Given the description of an element on the screen output the (x, y) to click on. 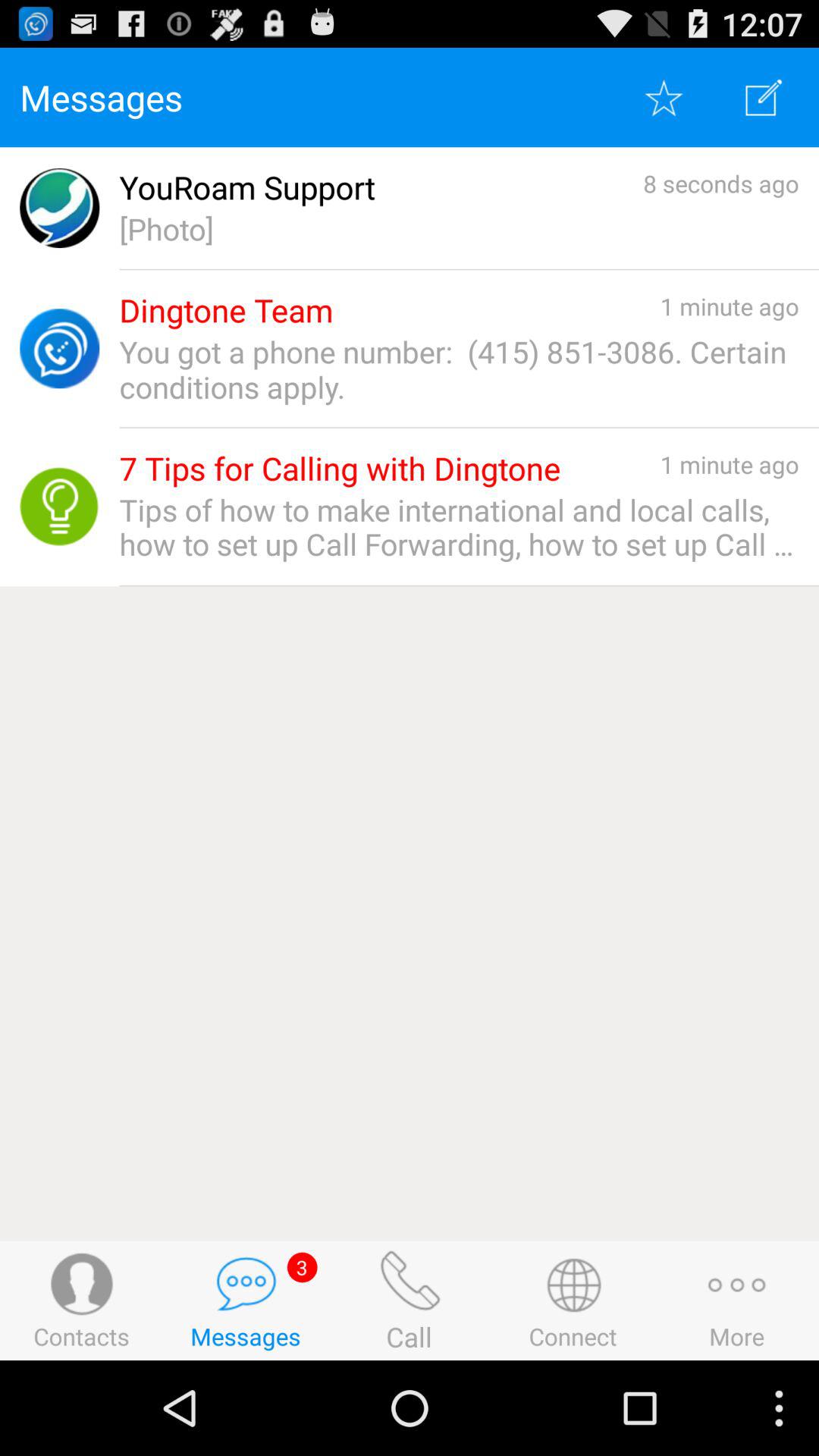
open icon next to 1 minute ago (226, 310)
